Given the description of an element on the screen output the (x, y) to click on. 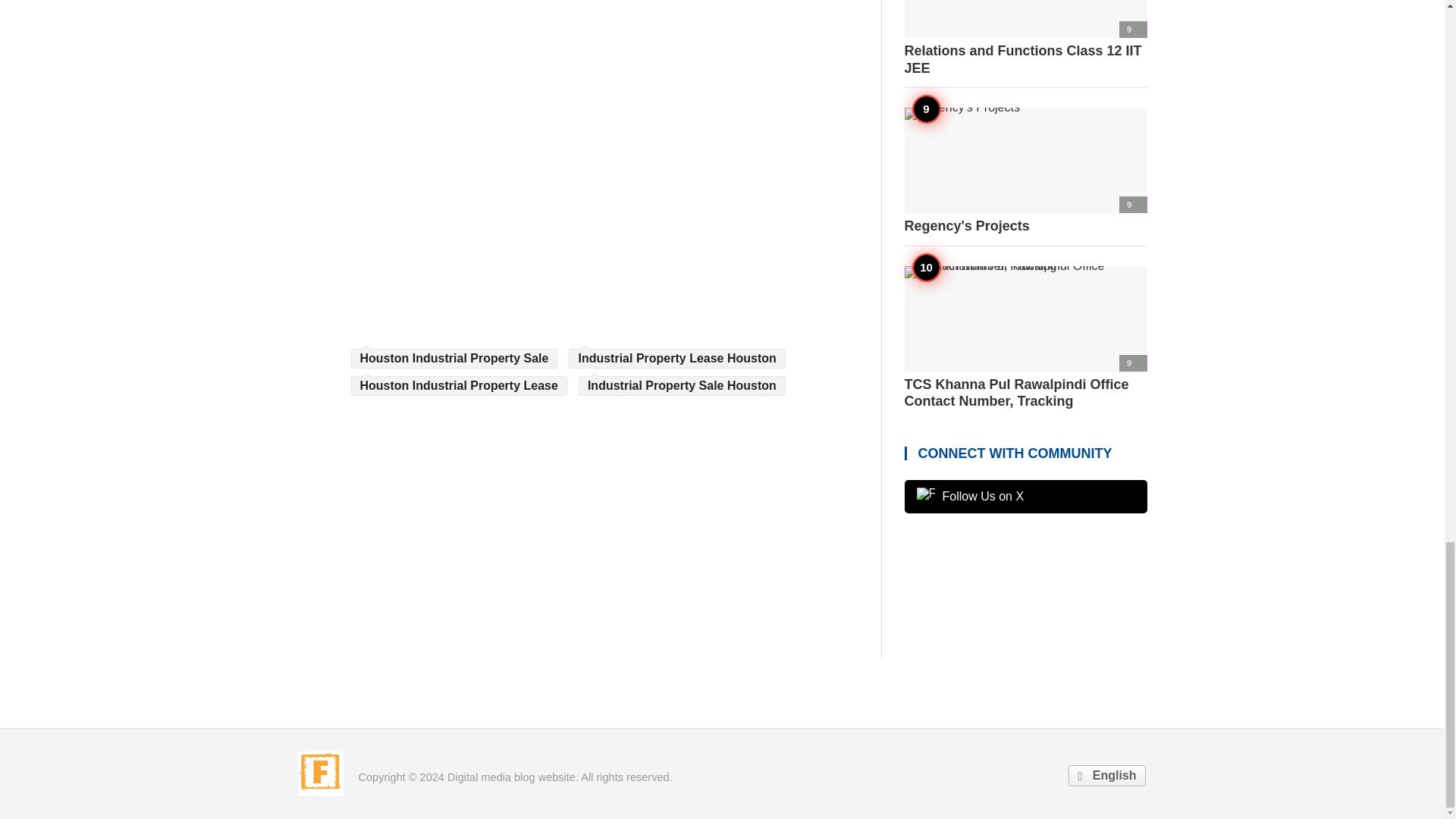
Regency's Projects (1025, 171)
Relations and Functions Class 12 IIT JEE (1025, 38)
TCS Khanna Pul Rawalpindi Office Contact Number, Tracking (1025, 337)
